Given the description of an element on the screen output the (x, y) to click on. 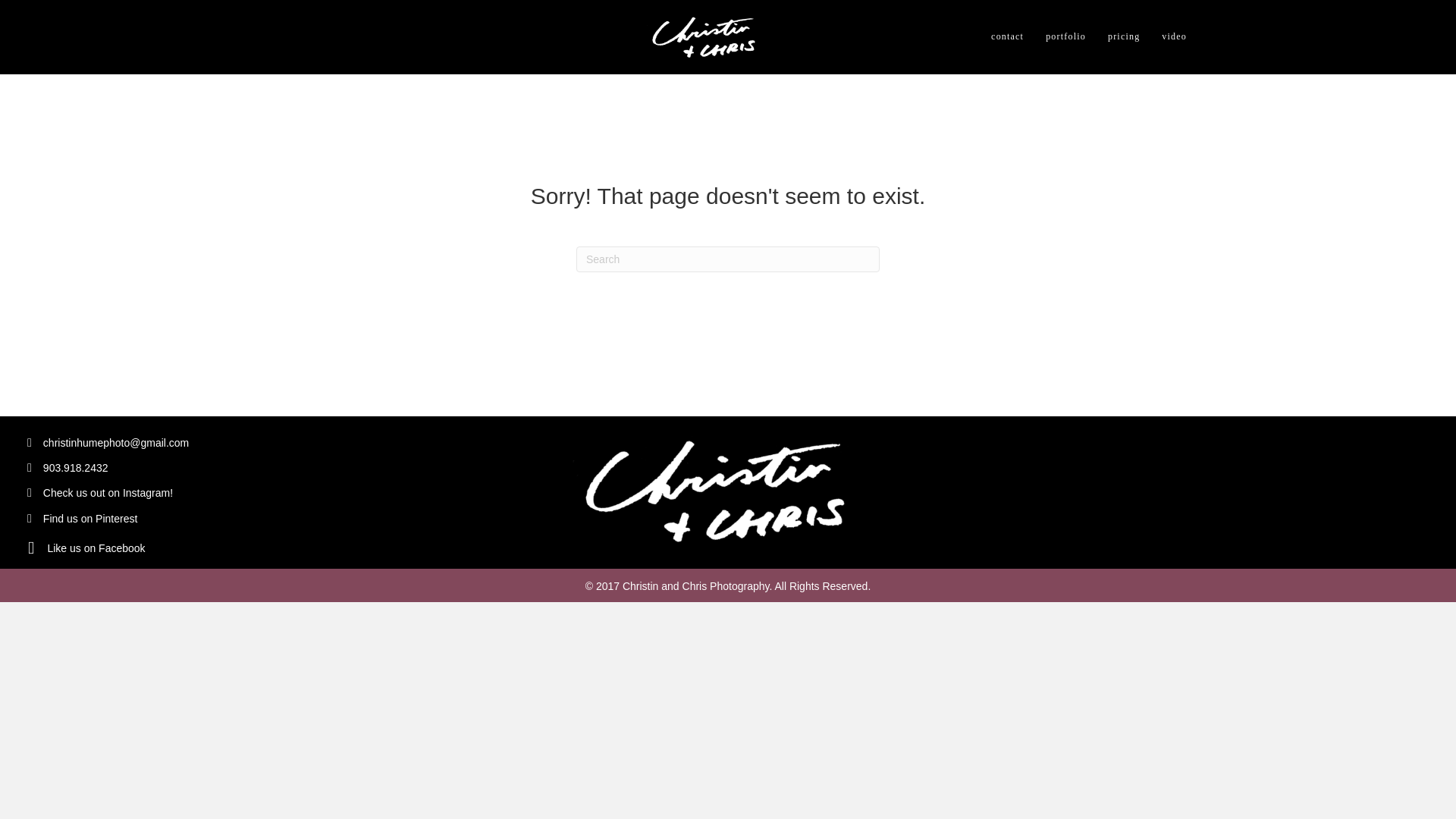
christin and chris script logo 2 (706, 36)
portfolio (1065, 36)
contact (1006, 36)
video (1173, 36)
Like us on Facebook (95, 548)
pricing (1123, 36)
Type and press Enter to search. (727, 258)
Check us out on Instagram!  (109, 492)
Find us on Pinterest (90, 518)
